Given the description of an element on the screen output the (x, y) to click on. 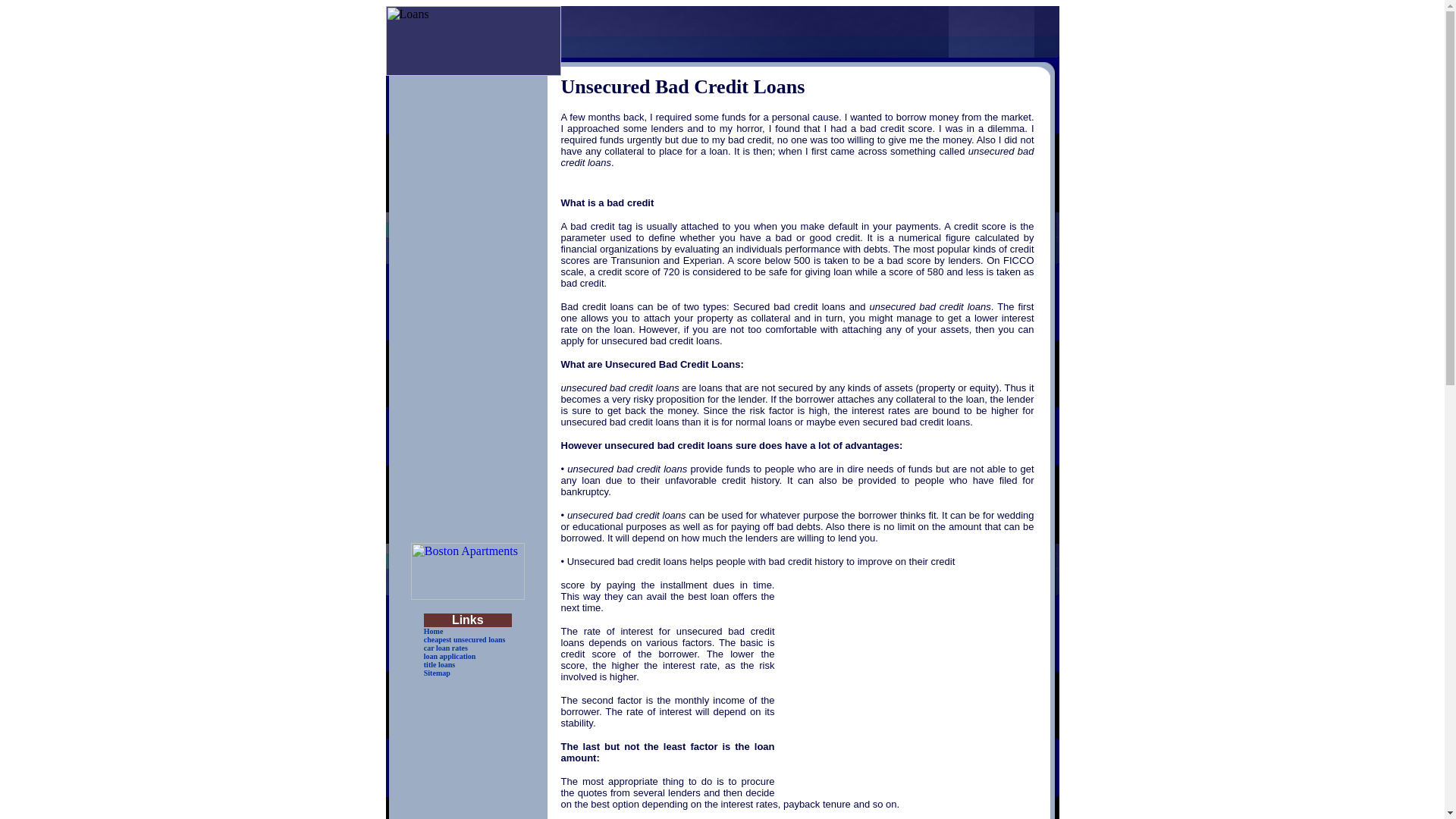
Sitemap (436, 673)
title loans (438, 664)
Unsecured Bad Credit Loans (627, 469)
Unsecured Bad Credit Loans (626, 514)
cheapest unsecured loans (464, 639)
loan application (449, 655)
Home (433, 631)
Unsecured Bad Credit Loans (796, 87)
Unsecured Bad Credit Loans (796, 156)
Unsecured Bad Credit Loans (619, 387)
